Given the description of an element on the screen output the (x, y) to click on. 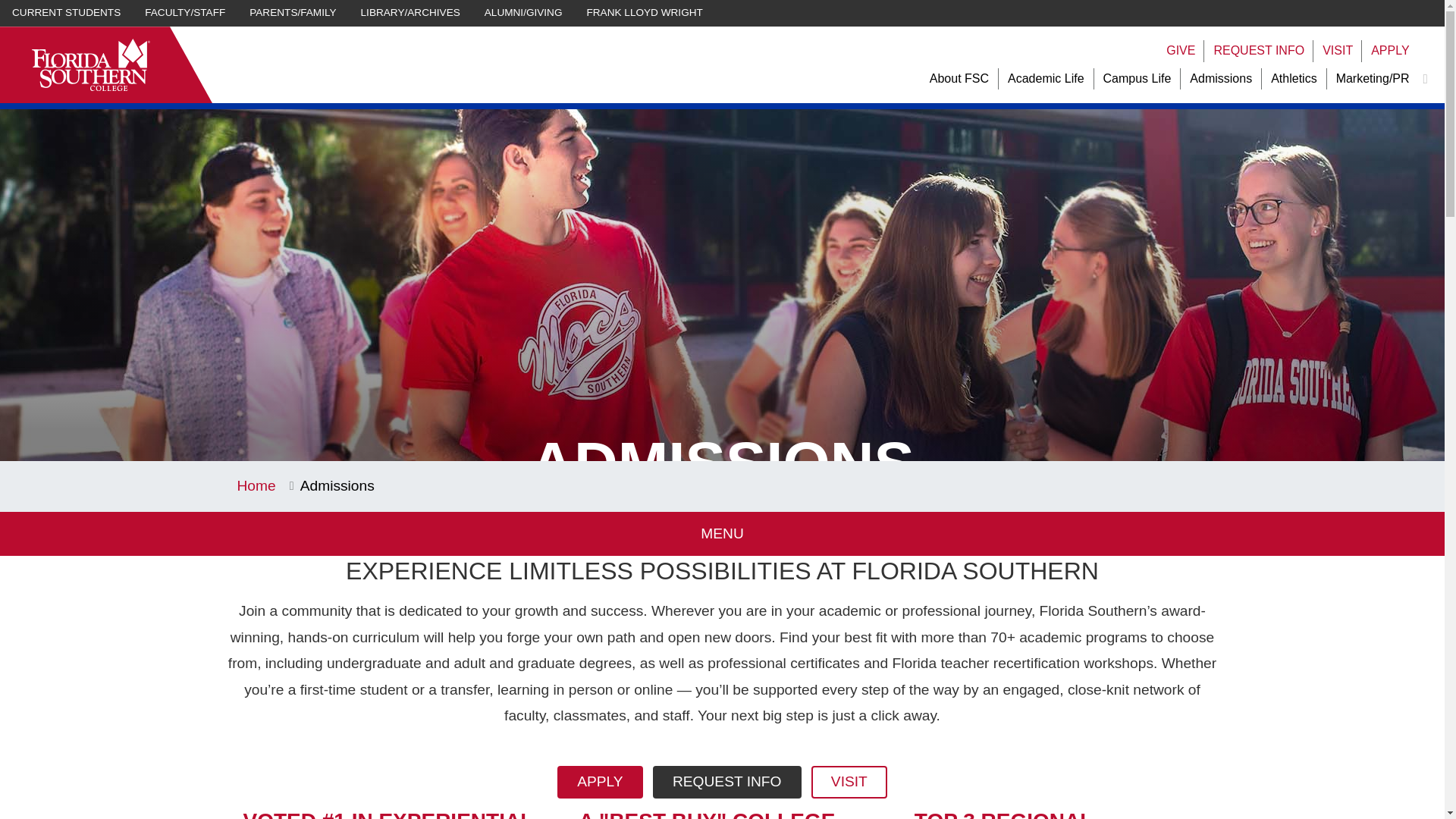
Athletics (1293, 78)
APPLY (1390, 51)
REQUEST INFO (1258, 51)
CURRENT STUDENTS (65, 13)
Campus Life (1137, 78)
GIVE (1180, 51)
About FSC (959, 78)
Admissions (1220, 78)
Academic Life (1045, 78)
VISIT (1337, 51)
